Given the description of an element on the screen output the (x, y) to click on. 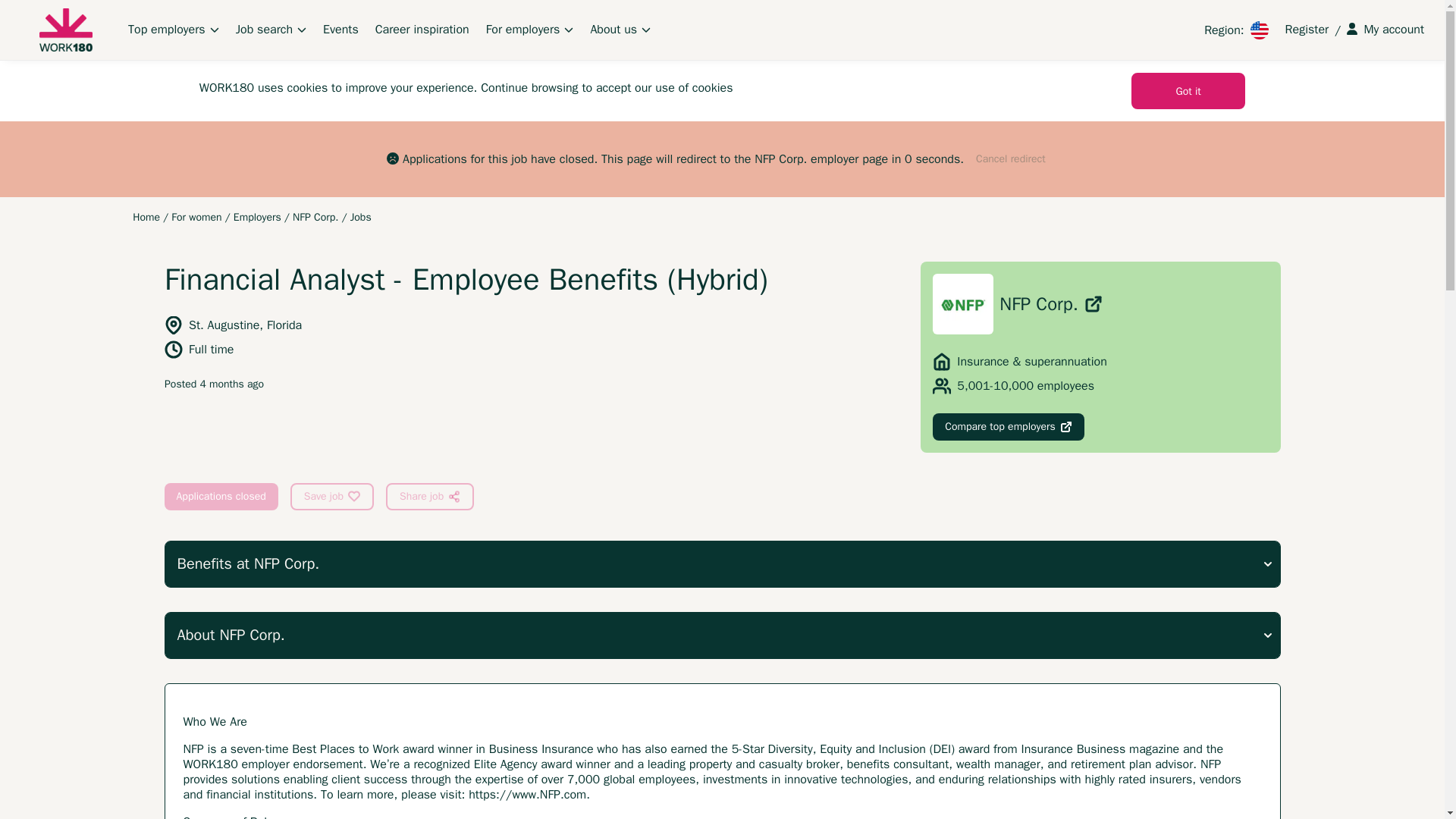
My account (1384, 29)
Register (1307, 29)
Job search (270, 29)
For employers (529, 29)
Top employers (173, 29)
Events (340, 29)
Cancel redirect (1010, 158)
use of cookies (693, 87)
Career inspiration (421, 29)
Got it (1187, 90)
About us (619, 29)
